Given the description of an element on the screen output the (x, y) to click on. 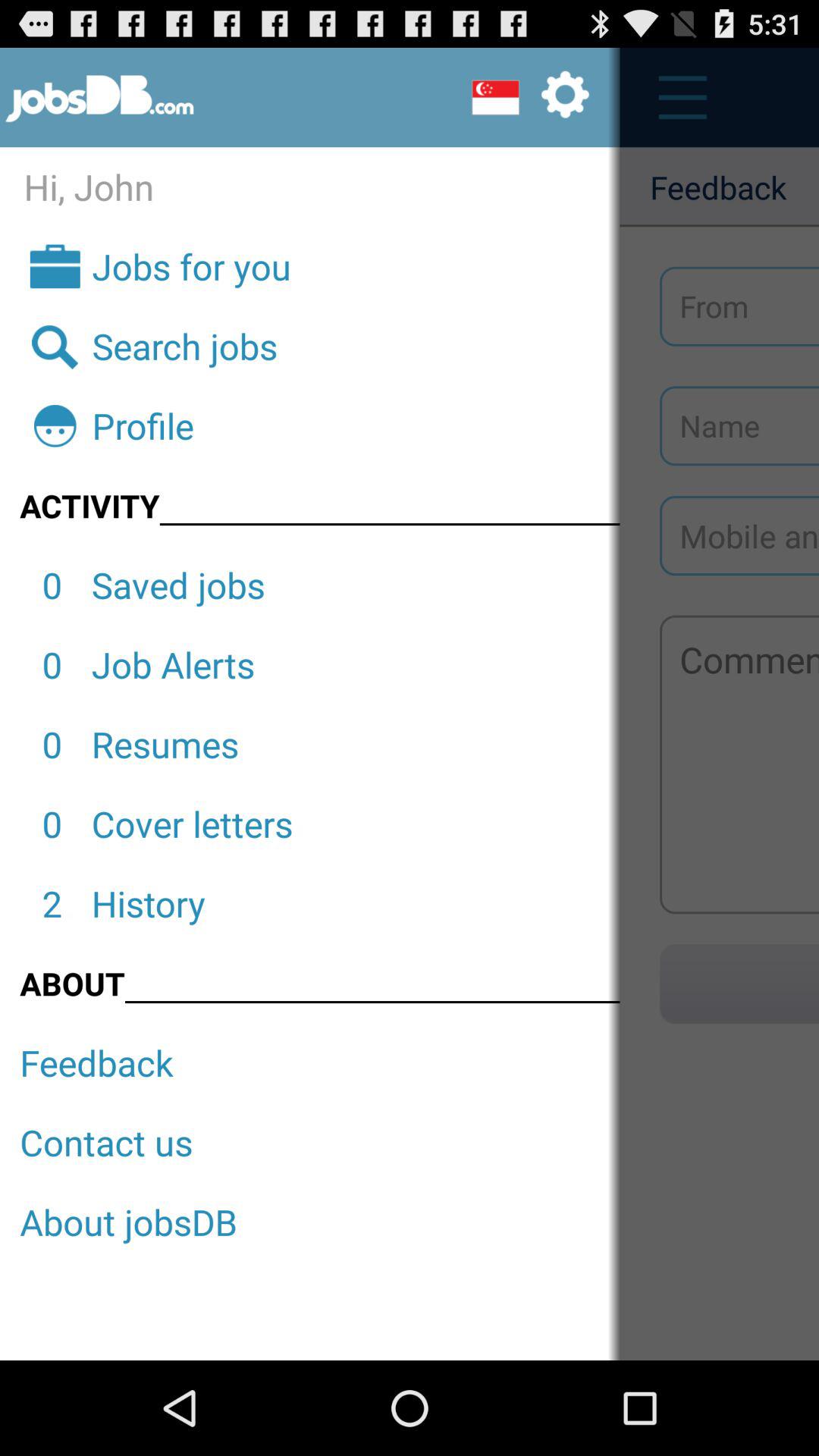
enter comment (739, 764)
